Given the description of an element on the screen output the (x, y) to click on. 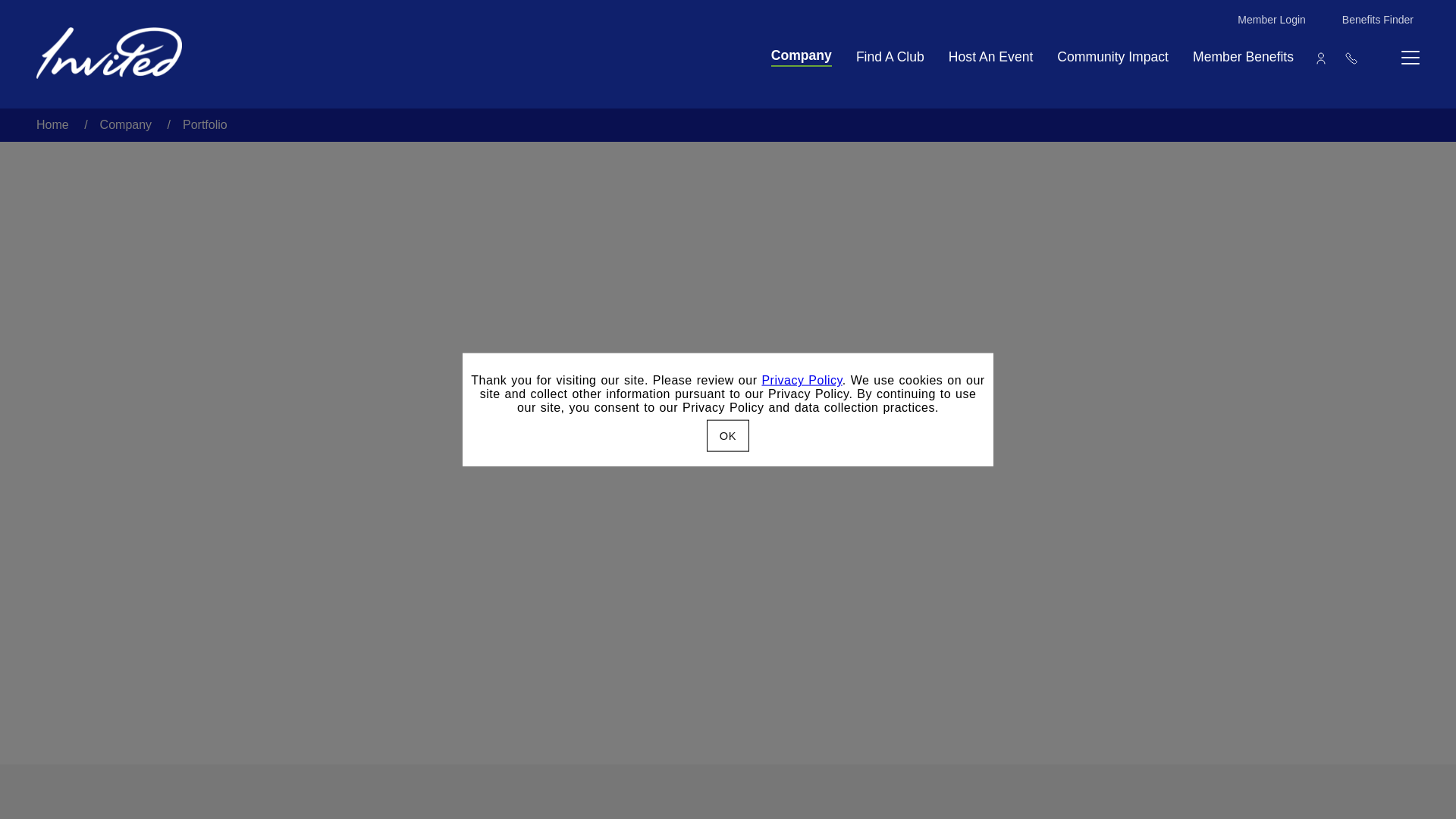
Community Impact (1113, 58)
OK (727, 435)
Contact Us (1351, 58)
Login - Opens in new tab (1271, 19)
Privacy Policy (1321, 58)
Member Benefits (801, 379)
Menu (1243, 58)
Invited Clubs (1404, 58)
Benefits Finder (109, 52)
